Given the description of an element on the screen output the (x, y) to click on. 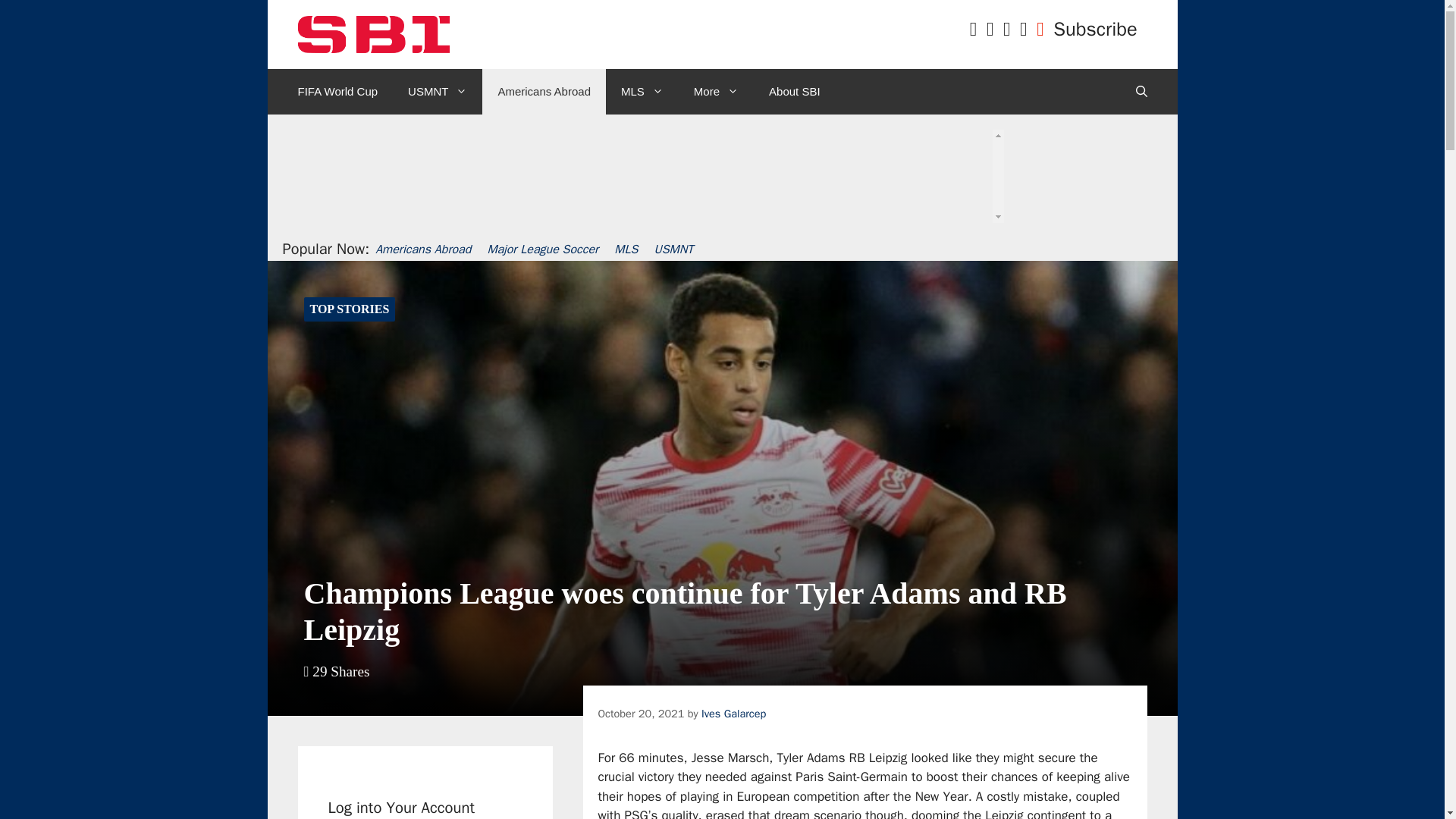
Americans Abroad (543, 91)
MLS (641, 91)
View all posts by Ives Galarcep (733, 713)
Subscribe (1094, 28)
FIFA World Cup (337, 91)
USMNT (437, 91)
